Given the description of an element on the screen output the (x, y) to click on. 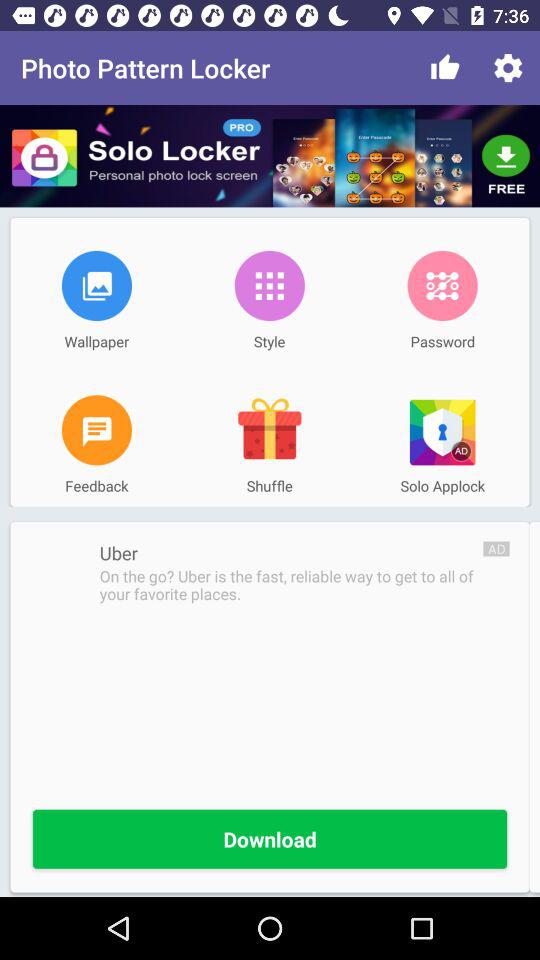
scroll to on the go icon (291, 585)
